Given the description of an element on the screen output the (x, y) to click on. 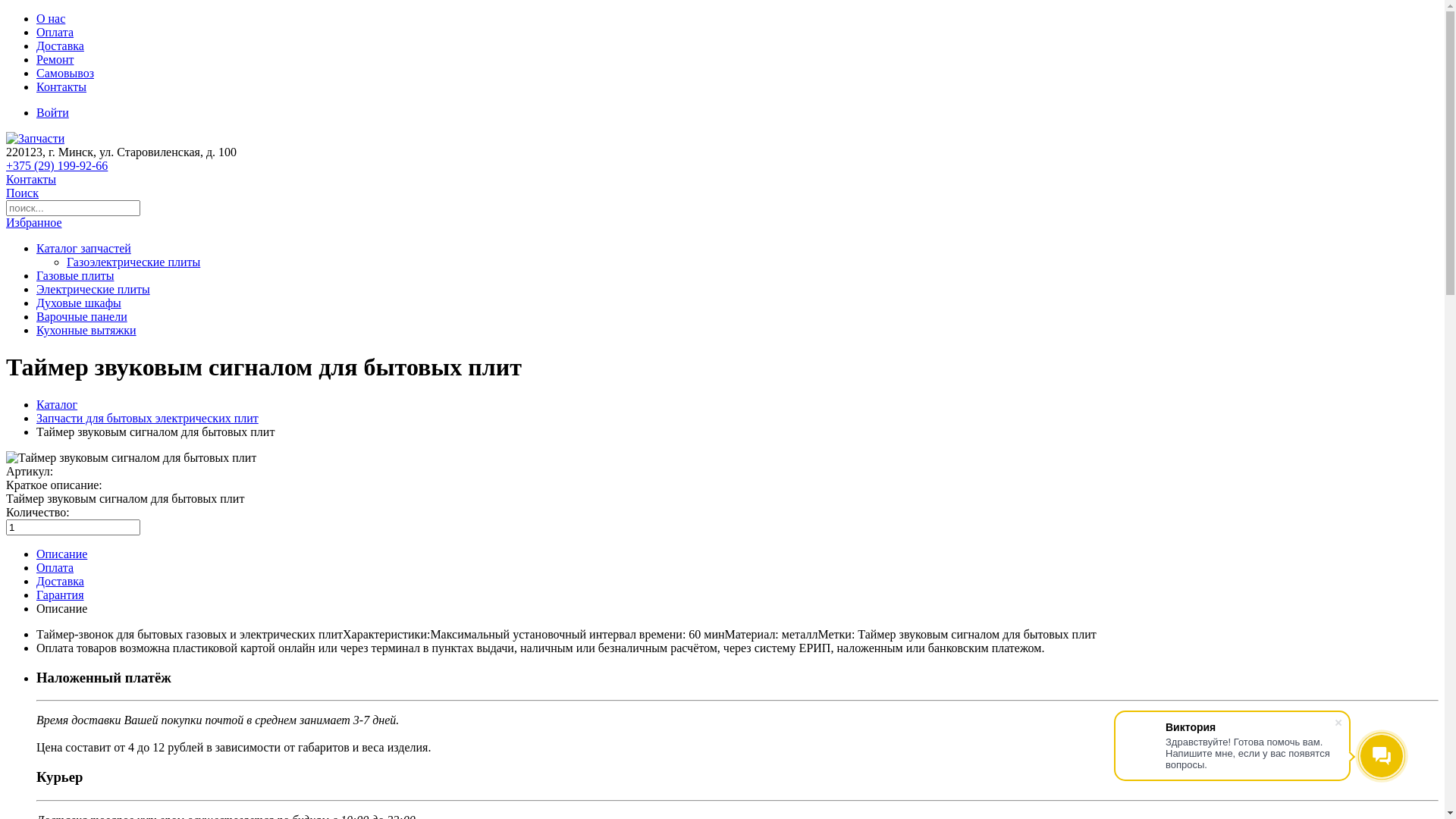
+375 (29) 199-92-66 Element type: text (56, 165)
